Given the description of an element on the screen output the (x, y) to click on. 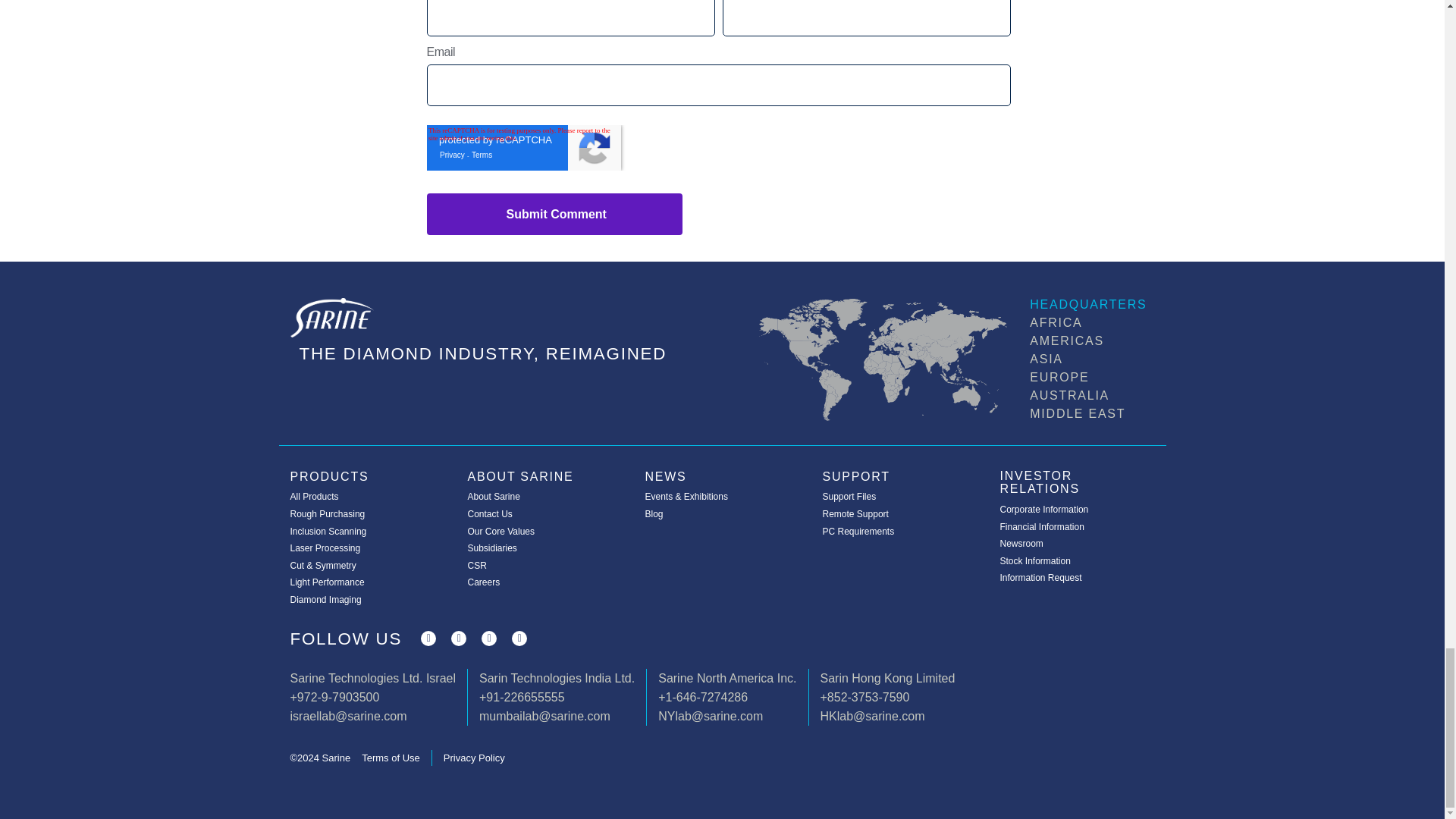
Submit Comment (553, 214)
reCAPTCHA (523, 147)
